Given the description of an element on the screen output the (x, y) to click on. 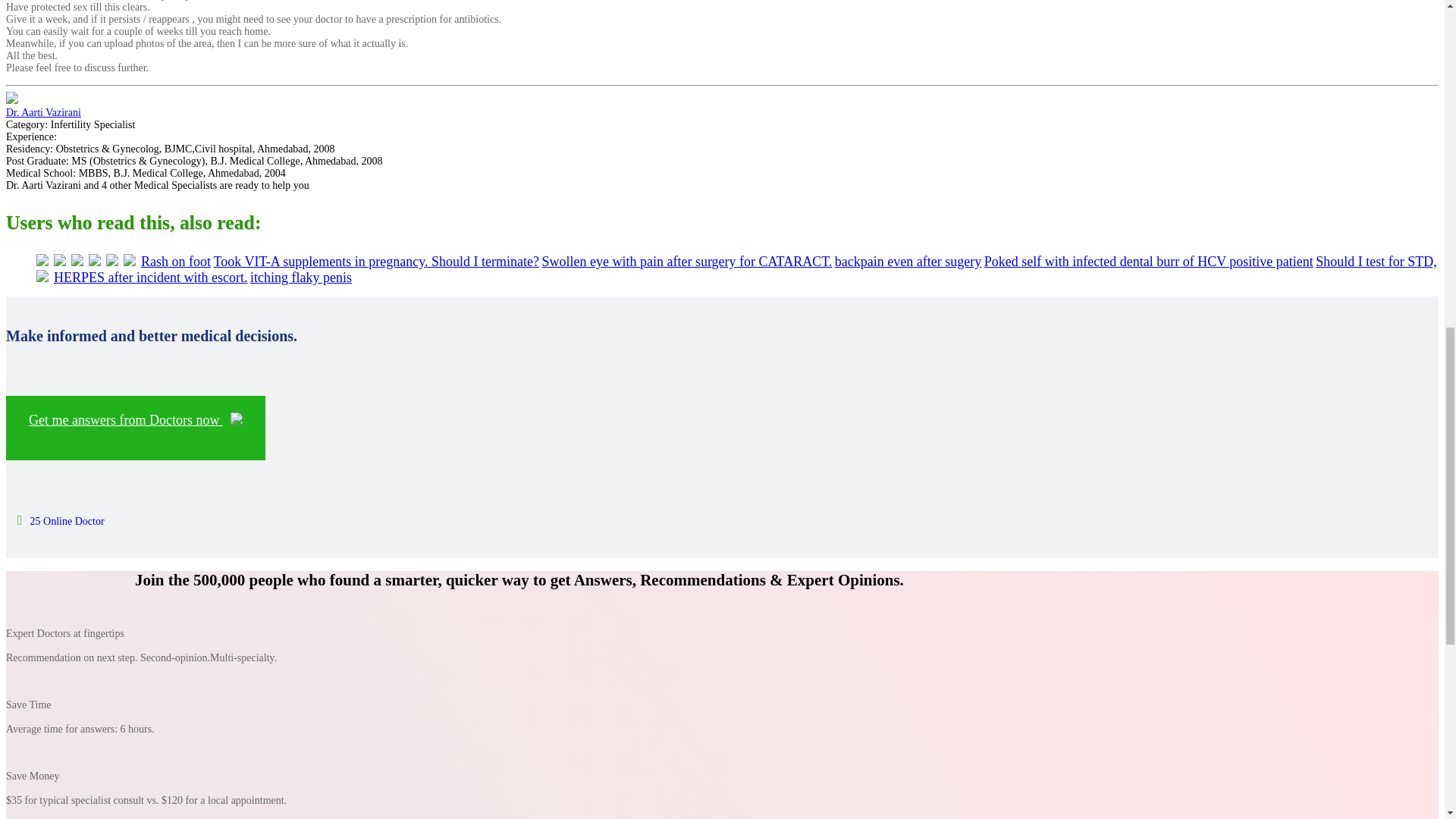
Poked self with infected dental burr of HCV positive patient (1148, 261)
Get me answers from Doctors now (134, 427)
Took VIT-A supplements in pregnancy. Should I terminate? (377, 261)
Dr. Aarti Vazirani (43, 112)
itching flaky penis (301, 277)
Ask a Doctor now (134, 427)
backpain even after sugery (907, 261)
25 Online Doctor (60, 521)
Rash on foot (176, 261)
Swollen eye with pain after surgery for CATARACT. (686, 261)
